Given the description of an element on the screen output the (x, y) to click on. 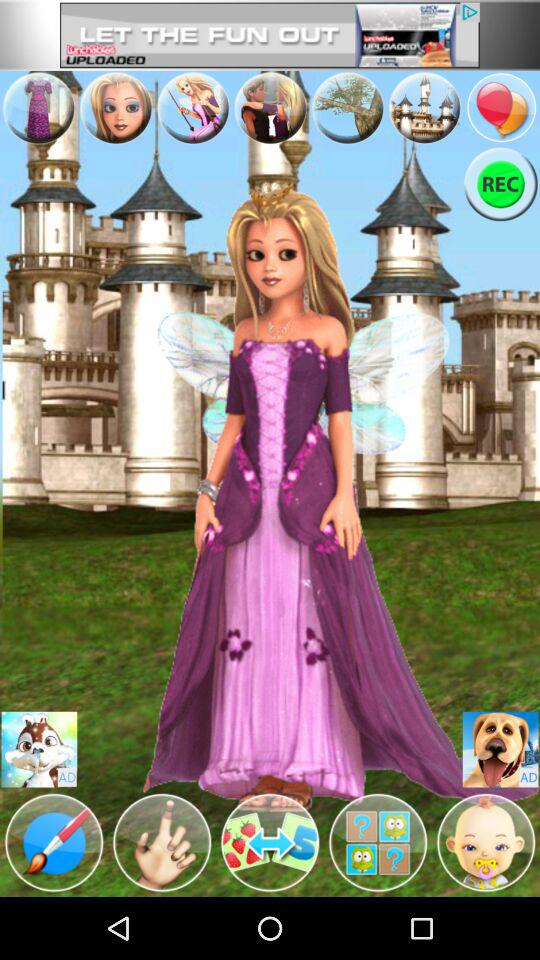
go to help icon (378, 843)
